Given the description of an element on the screen output the (x, y) to click on. 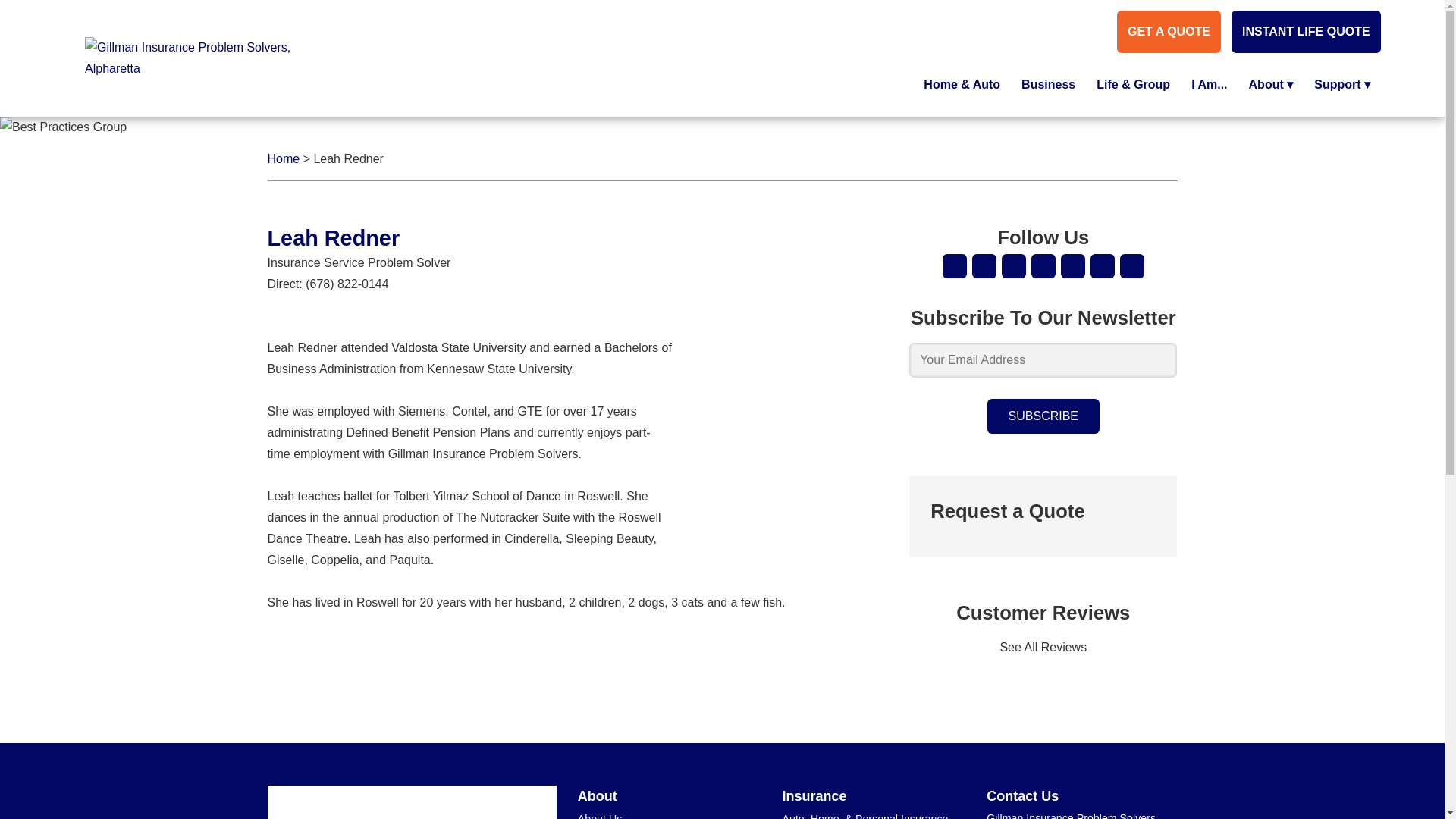
X (1042, 265)
Subscribe (1043, 416)
Gillman Insurance Problem Solvers, Alpharetta (210, 57)
Facebook (1013, 265)
header-curved-interior (63, 127)
I Am... (1208, 84)
Google Maps (954, 265)
Instagram (1131, 265)
Business (1048, 84)
Gillman Insurance Problem Solvers, Alpharetta (401, 812)
